Given the description of an element on the screen output the (x, y) to click on. 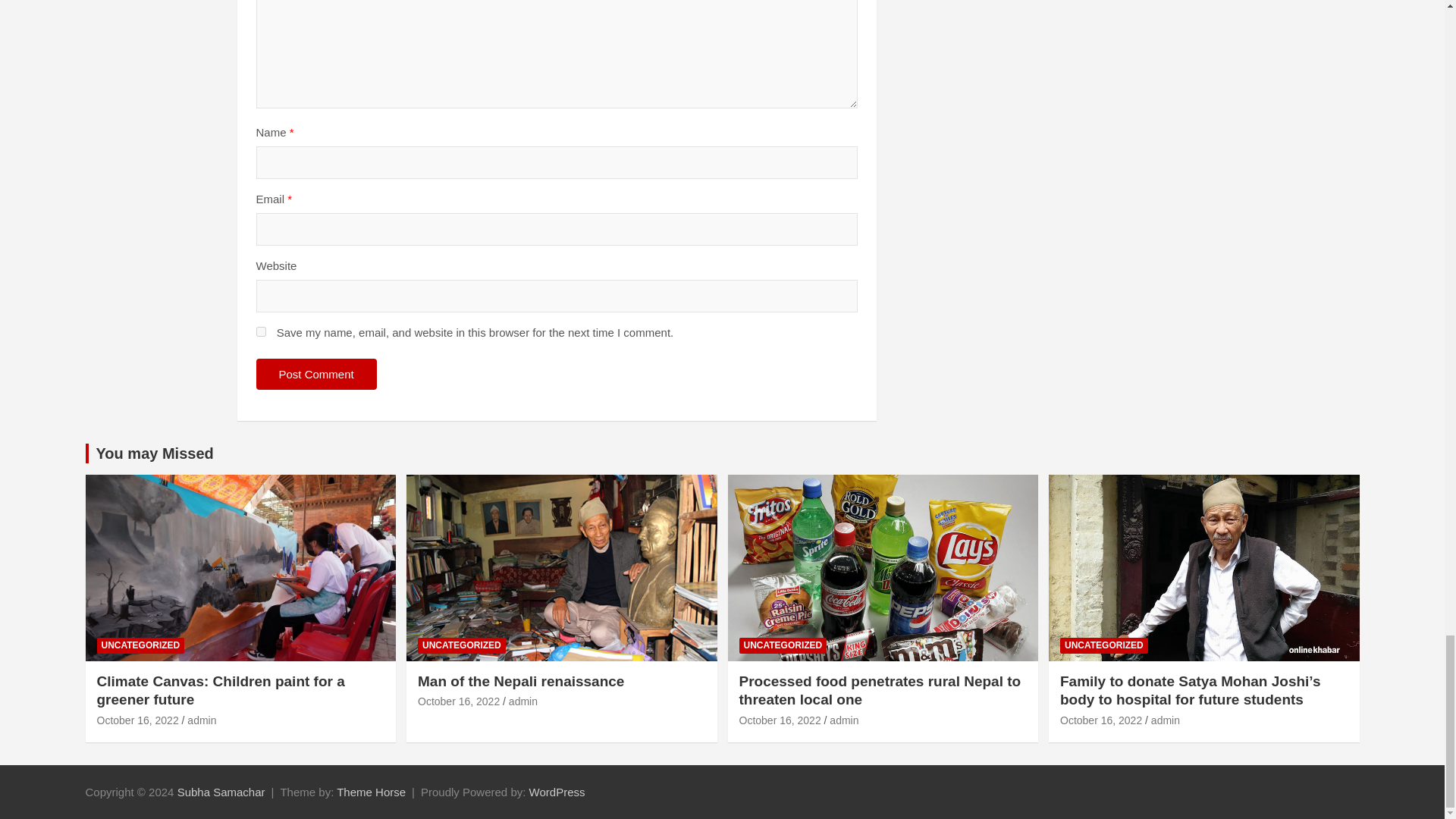
Post Comment (316, 373)
admin (201, 720)
WordPress (557, 791)
Processed food penetrates rural Nepal to threaten local one (779, 720)
Man of the Nepali renaissance (520, 681)
yes (261, 331)
Subha Samachar (220, 791)
Climate Canvas: Children paint for a greener future (138, 720)
admin (522, 701)
Man of the Nepali renaissance (458, 701)
